Given the description of an element on the screen output the (x, y) to click on. 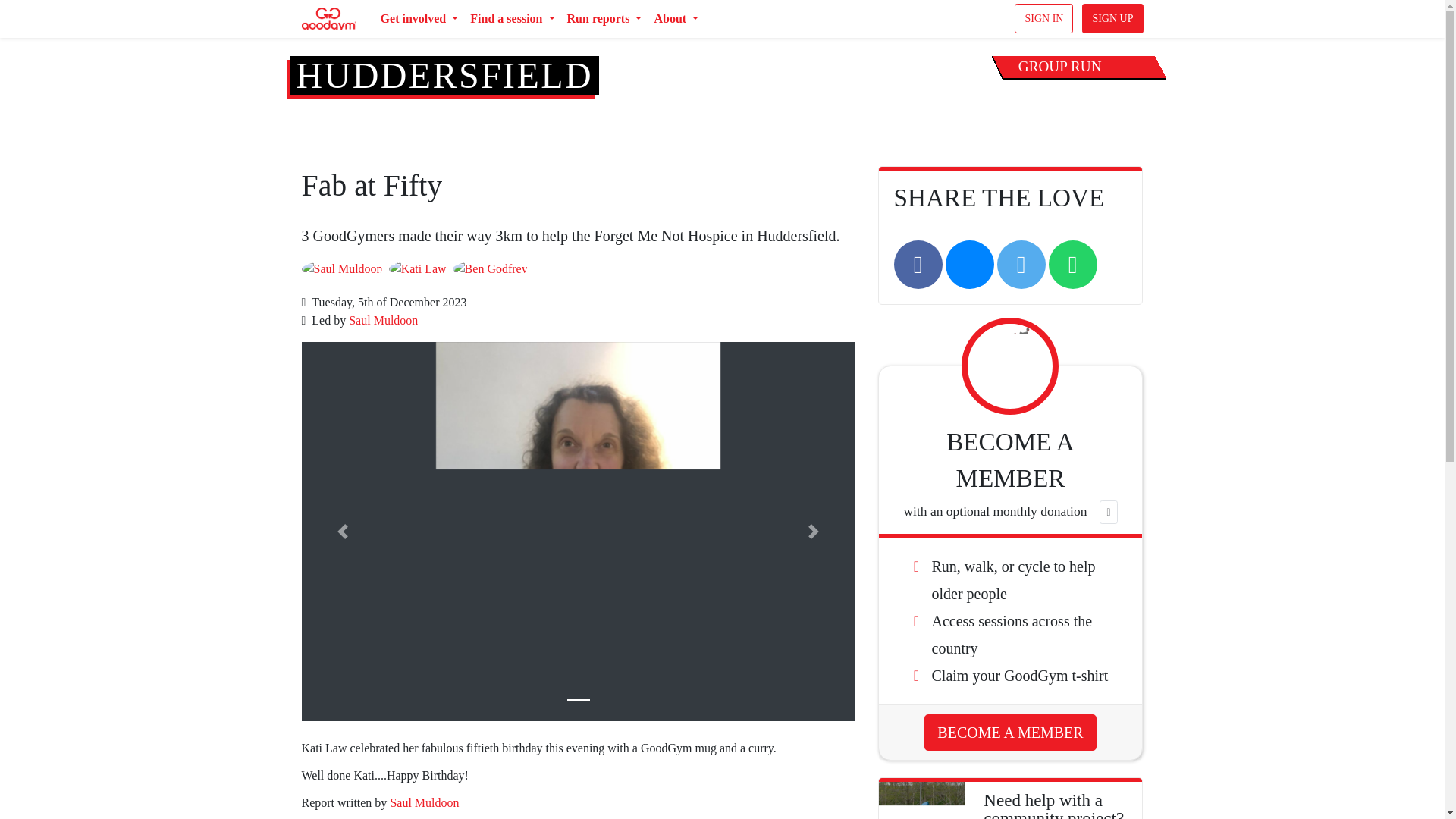
Get involved (419, 19)
Find a session (512, 19)
SIGN IN (1043, 18)
HUDDERSFIELD (443, 75)
Run reports (603, 19)
SIGN UP (1111, 18)
Messenger (968, 264)
About (675, 19)
